Given the description of an element on the screen output the (x, y) to click on. 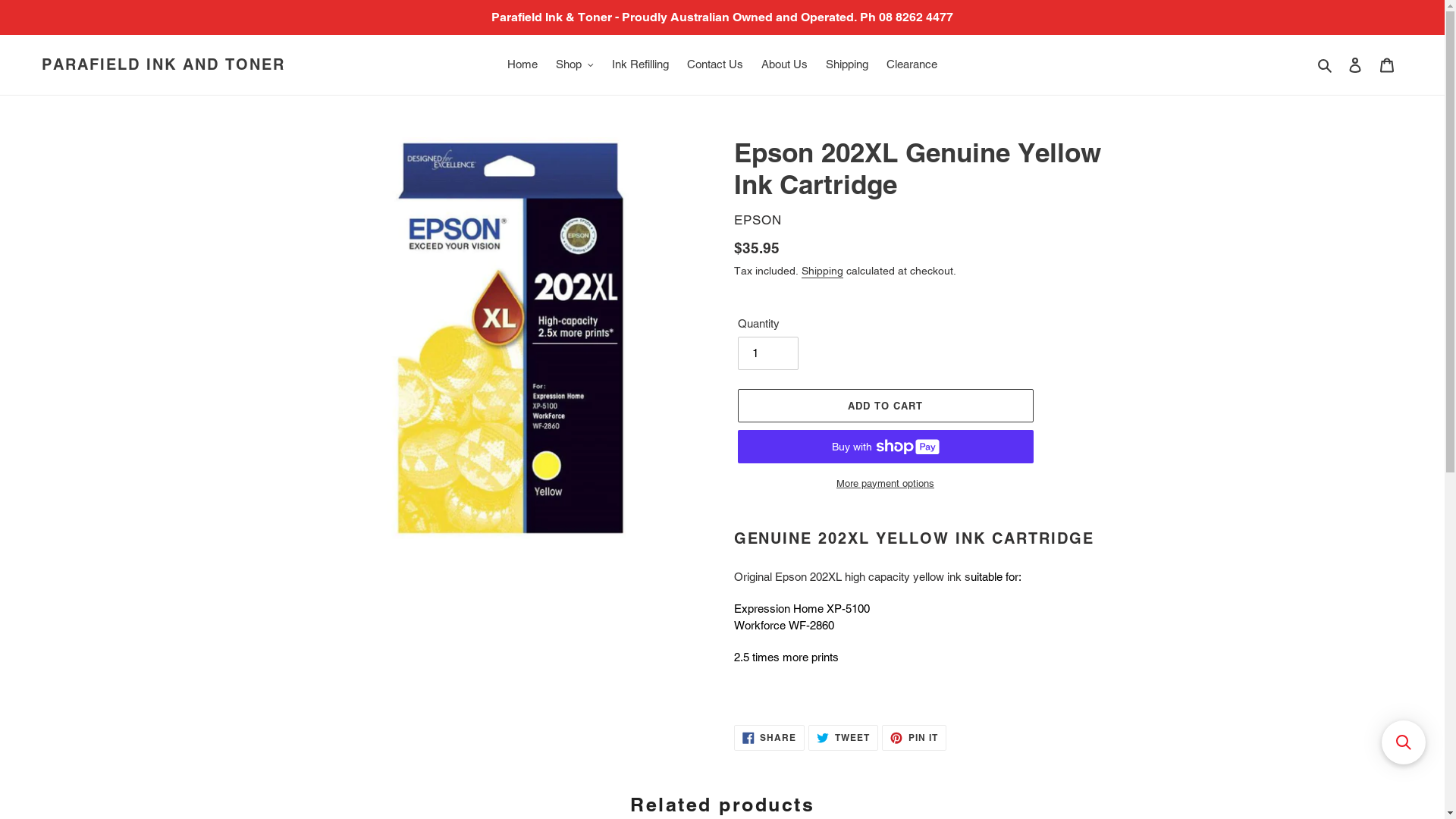
Shipping Element type: text (846, 64)
Home Element type: text (522, 64)
Log in Element type: text (1355, 64)
Shipping Element type: text (821, 271)
Clearance Element type: text (911, 64)
SHARE
SHARE ON FACEBOOK Element type: text (769, 737)
Shop Element type: text (574, 64)
Cart Element type: text (1386, 64)
PARAFIELD INK AND TONER Element type: text (163, 64)
TWEET
TWEET ON TWITTER Element type: text (843, 737)
Contact Us Element type: text (714, 64)
About Us Element type: text (784, 64)
Search Element type: text (1325, 64)
PIN IT
PIN ON PINTEREST Element type: text (913, 737)
More payment options Element type: text (884, 483)
Ink Refilling Element type: text (640, 64)
ADD TO CART Element type: text (884, 405)
